Given the description of an element on the screen output the (x, y) to click on. 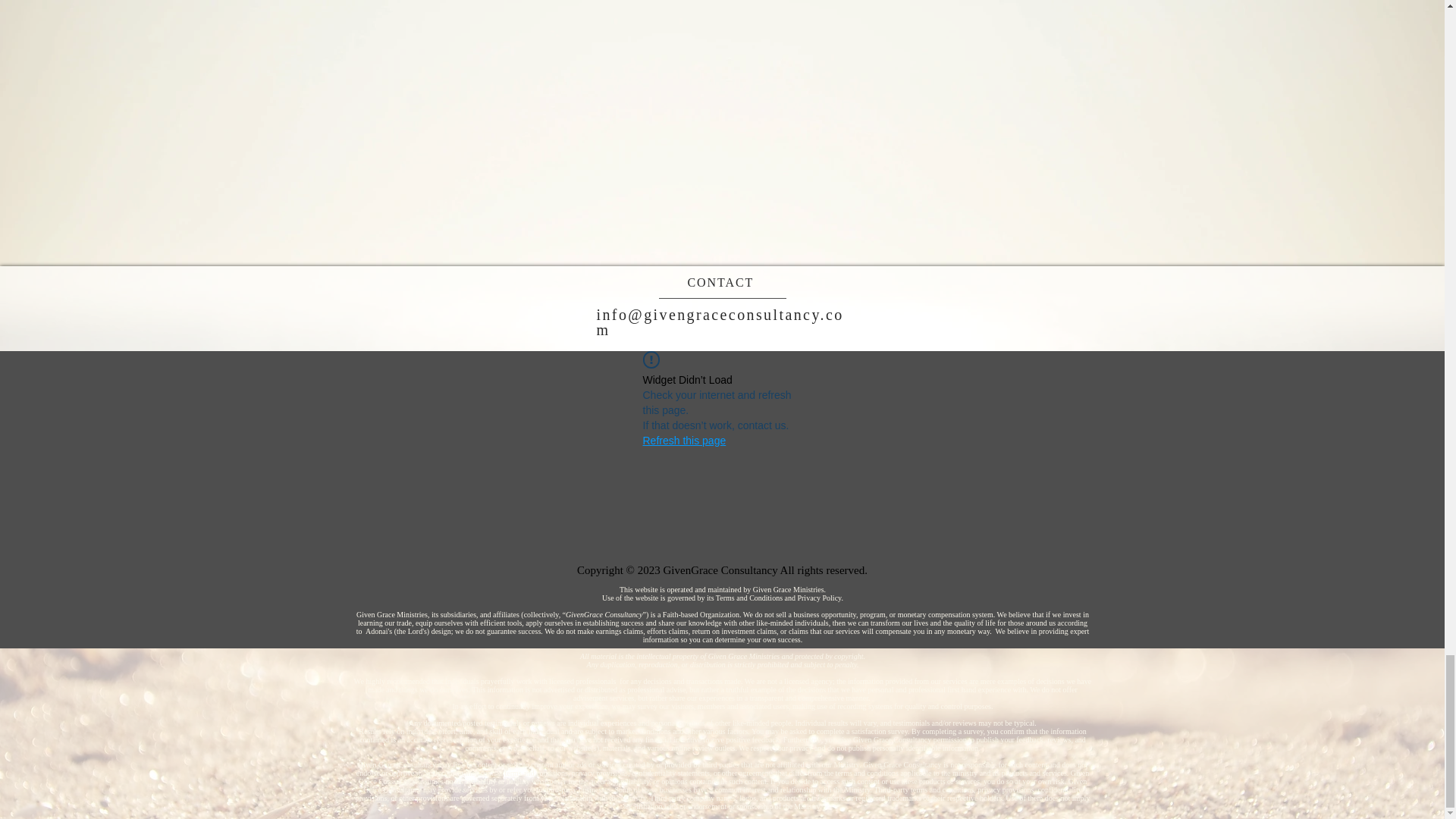
Refresh this page (684, 440)
